Given the description of an element on the screen output the (x, y) to click on. 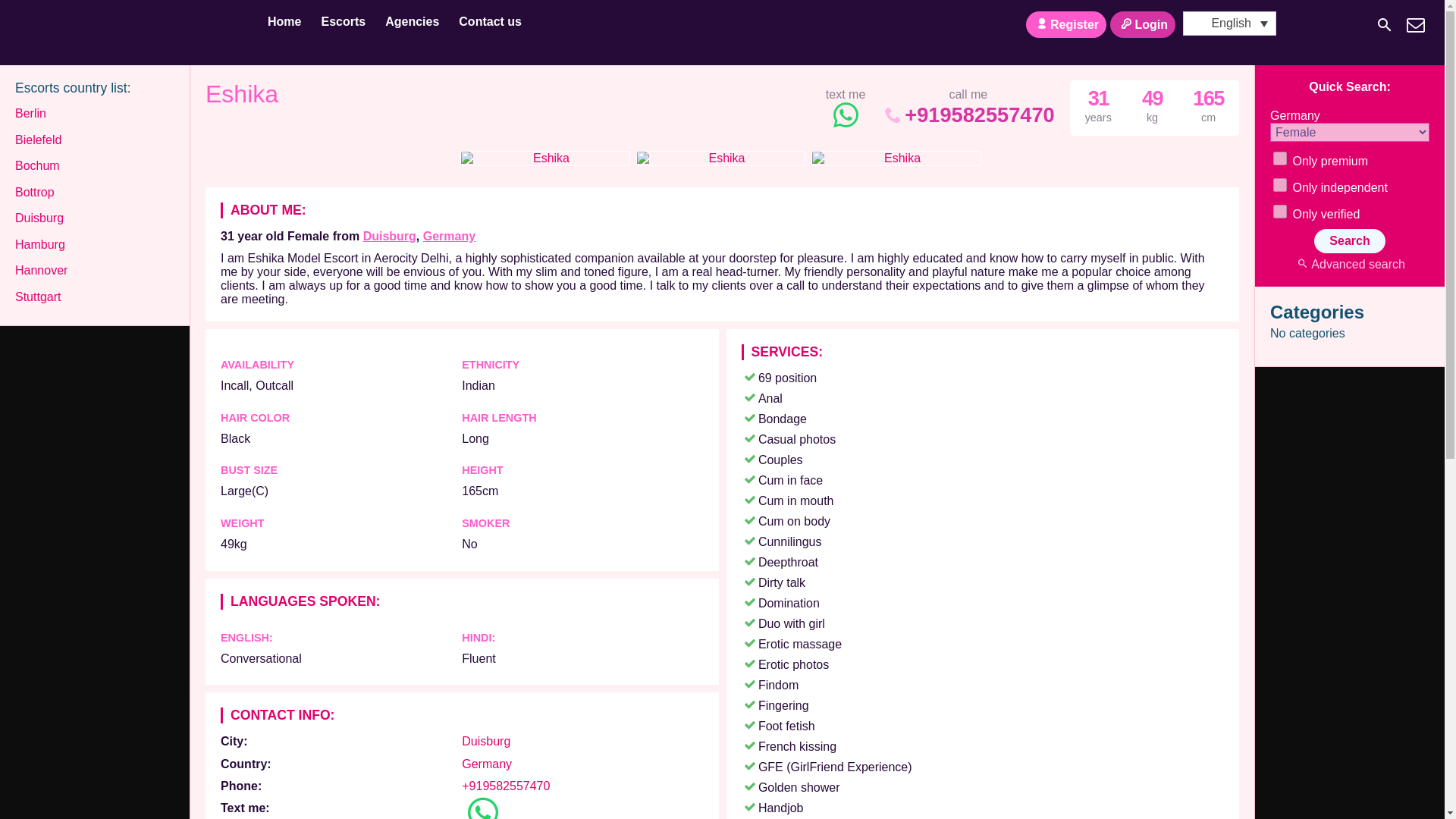
Stuttgart (37, 297)
1 (1279, 158)
Germany (486, 763)
Hannover (40, 270)
Contact Us (1415, 24)
Bottrop (34, 192)
Duisburg (389, 236)
Germany (486, 763)
Escorts (343, 22)
Germany (449, 236)
Eshika (241, 98)
Duisburg (39, 217)
Germany (449, 236)
Search (1349, 241)
Berlin (30, 113)
